Given the description of an element on the screen output the (x, y) to click on. 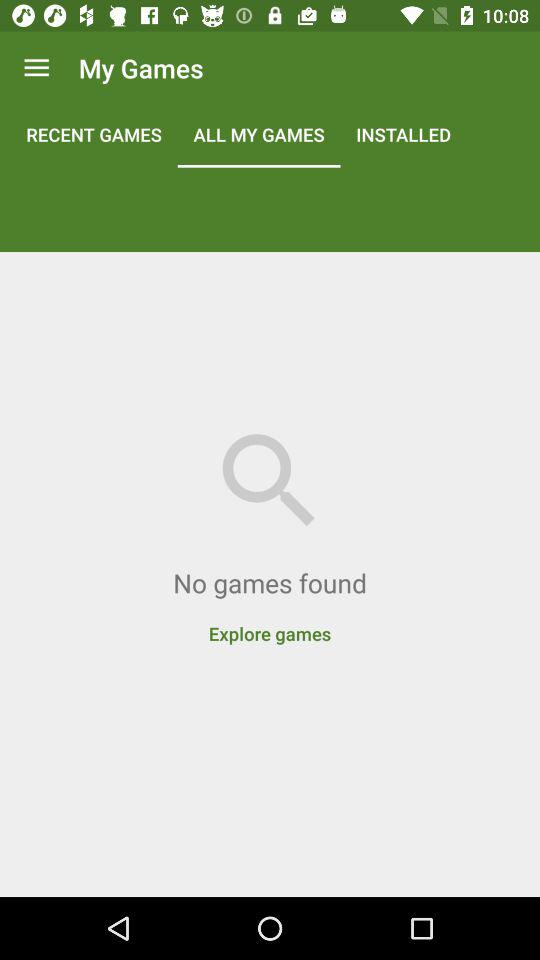
click the icon below the no games found item (270, 623)
